Given the description of an element on the screen output the (x, y) to click on. 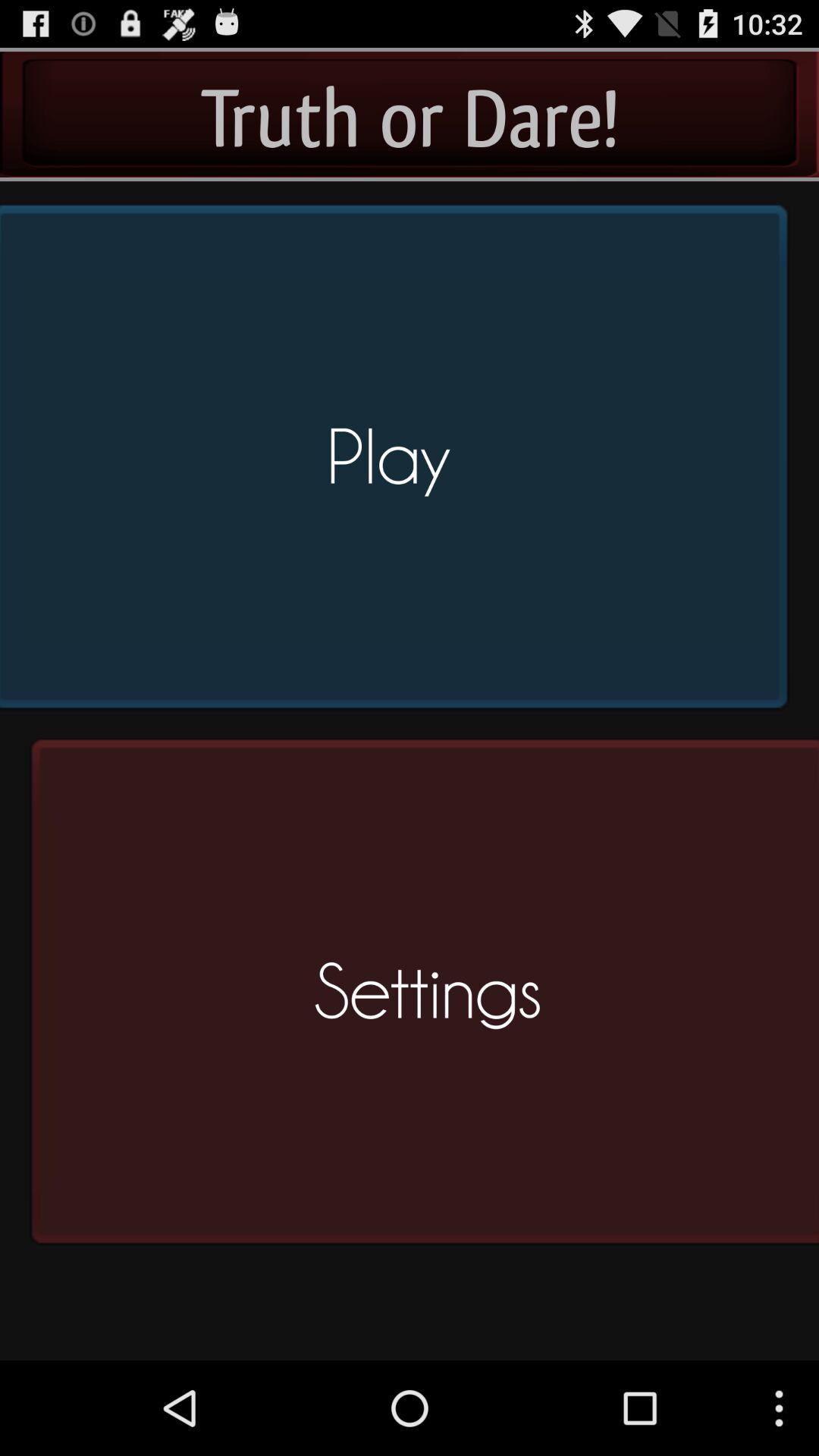
swipe to the play button (399, 463)
